Given the description of an element on the screen output the (x, y) to click on. 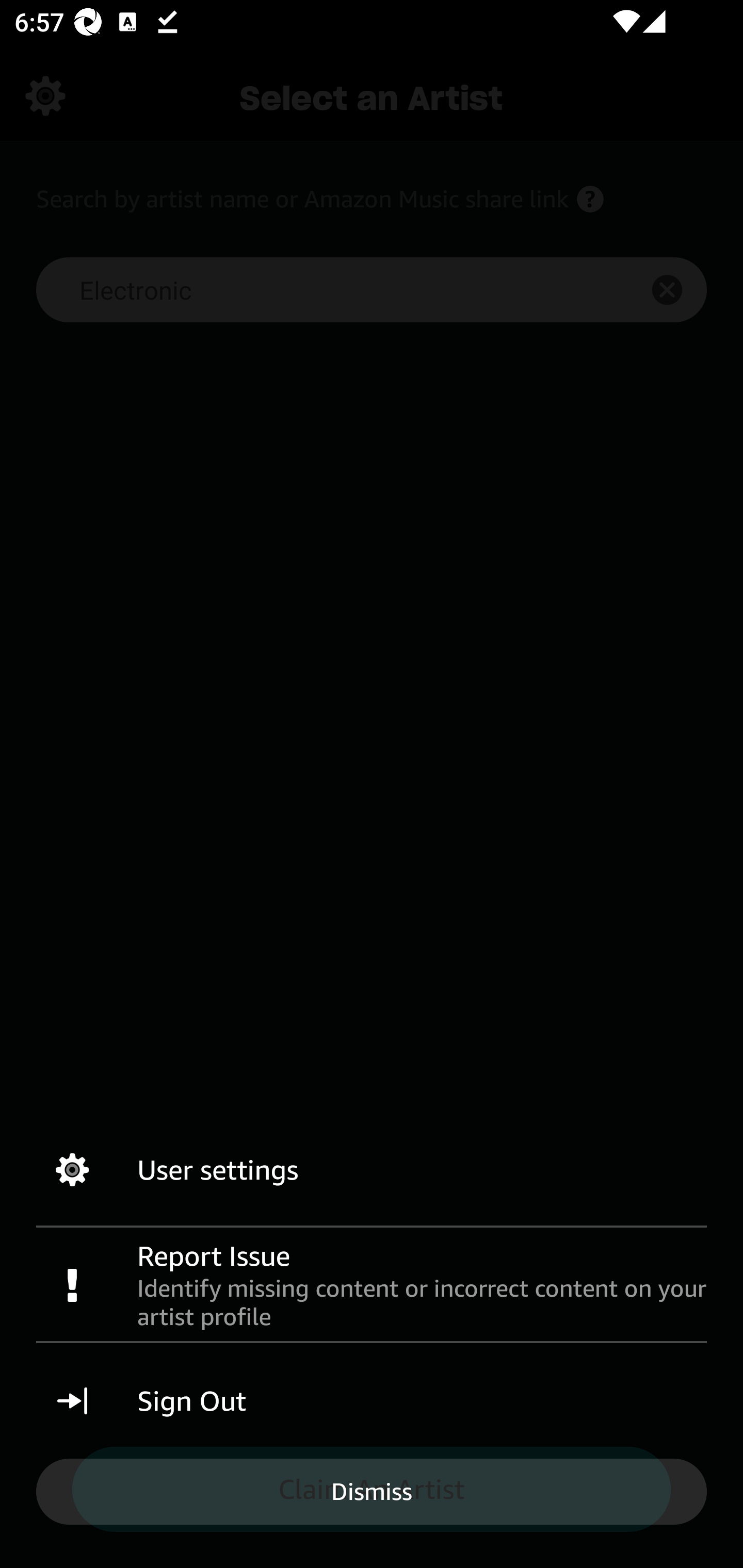
User settings  icon User settings User settings (371, 1169)
Sign Out  icon Sign Out Sign Out (371, 1400)
Dismiss button Dismiss (371, 1491)
